Given the description of an element on the screen output the (x, y) to click on. 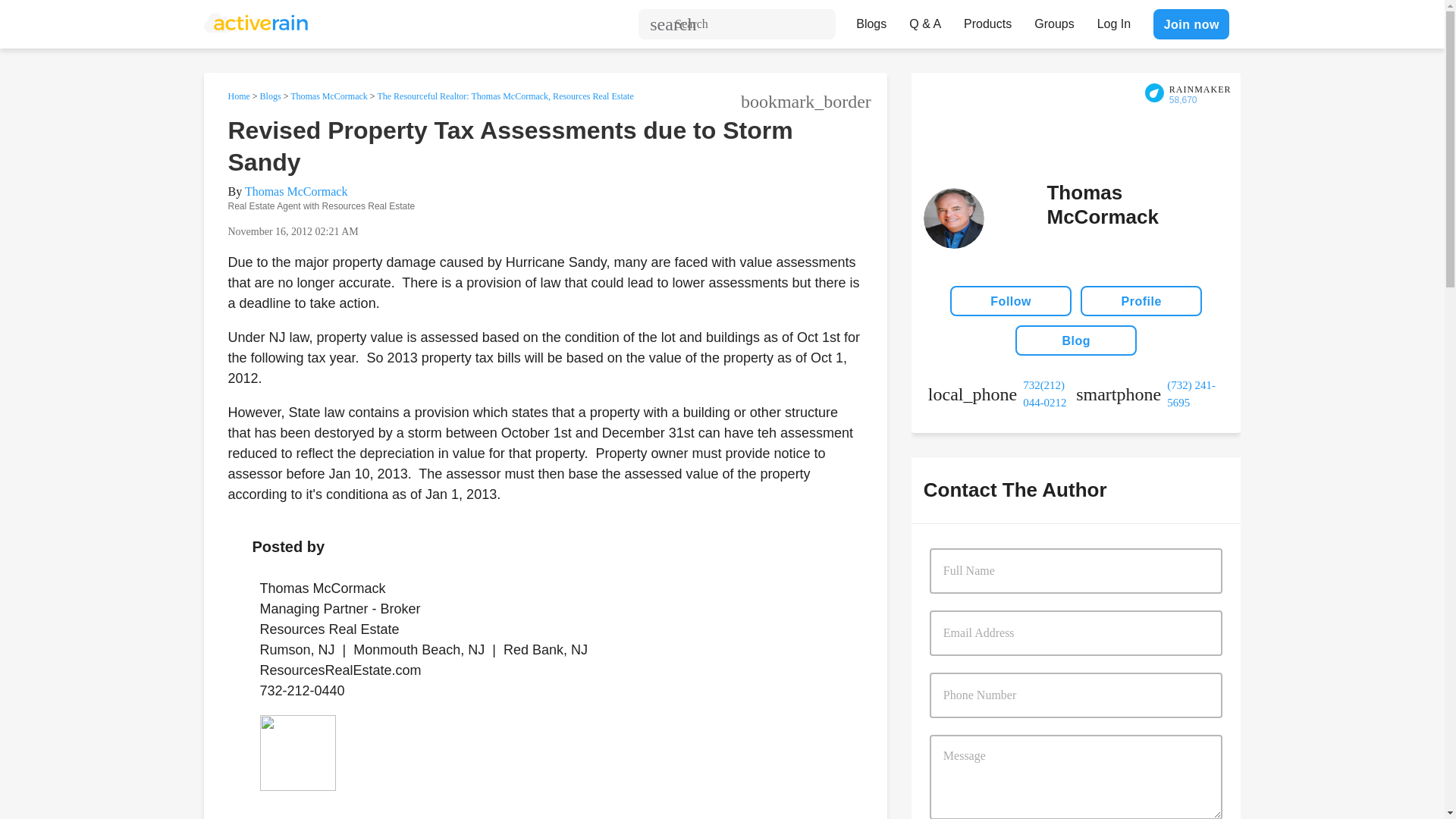
Home (237, 95)
Resources Real Estate Rumson, Monmouth Beach, Red Bank NJ  (296, 752)
Blogs (270, 95)
Groups (1053, 19)
Blogs (870, 19)
cell (1149, 393)
Thomas McCormack (328, 95)
work (1001, 393)
Thomas McCormack (295, 191)
